Given the description of an element on the screen output the (x, y) to click on. 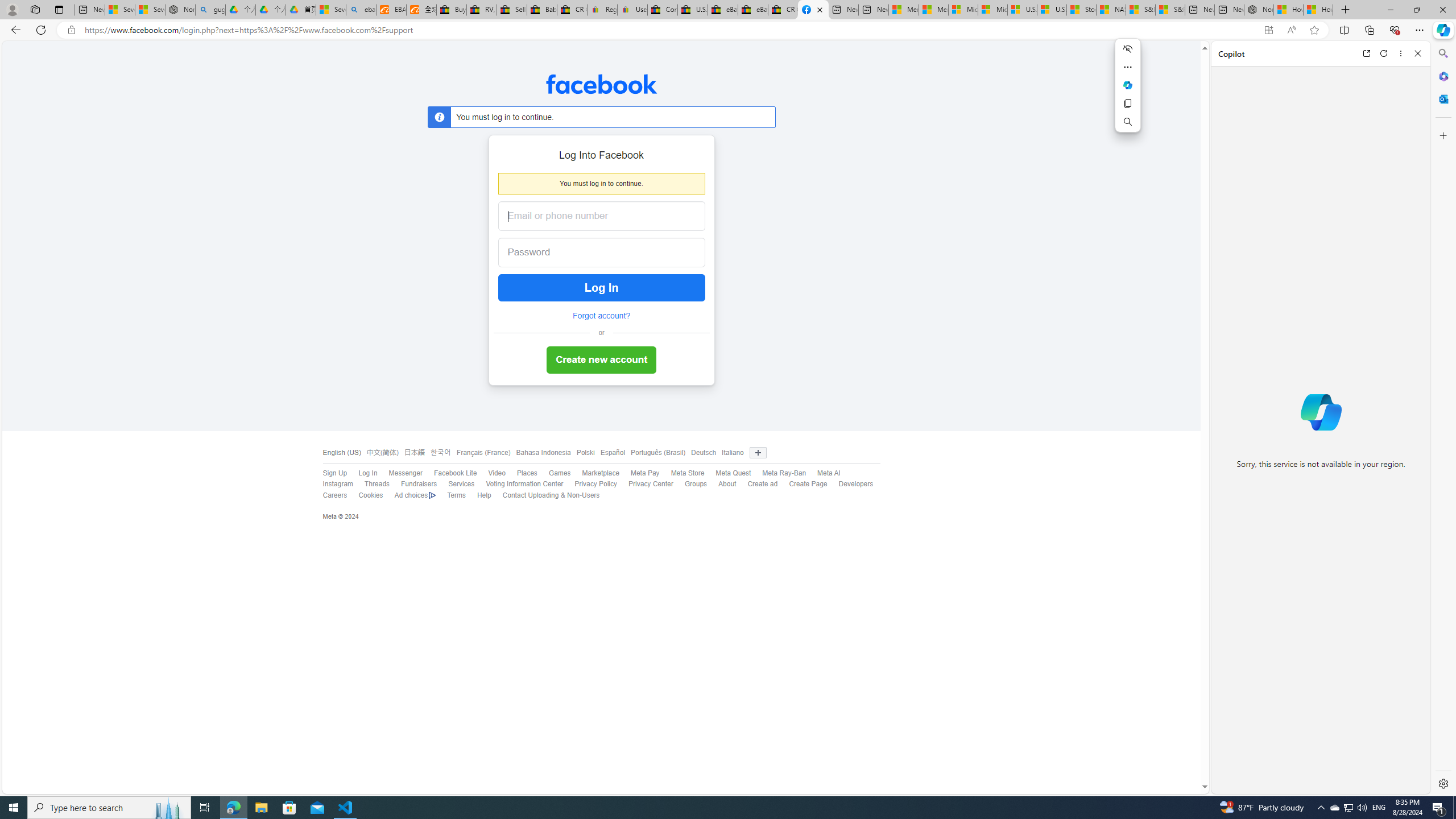
Consumer Health Data Privacy Policy - eBay Inc. (662, 9)
Terms (450, 495)
Outlook (1442, 98)
Places (526, 473)
Sign Up (329, 473)
Groups (689, 484)
Meta AI (828, 473)
Marketplace (594, 473)
About (721, 484)
Meta Ray-Ban (778, 473)
Meta Pay (638, 473)
Italiano (733, 452)
Side bar (1443, 418)
